Given the description of an element on the screen output the (x, y) to click on. 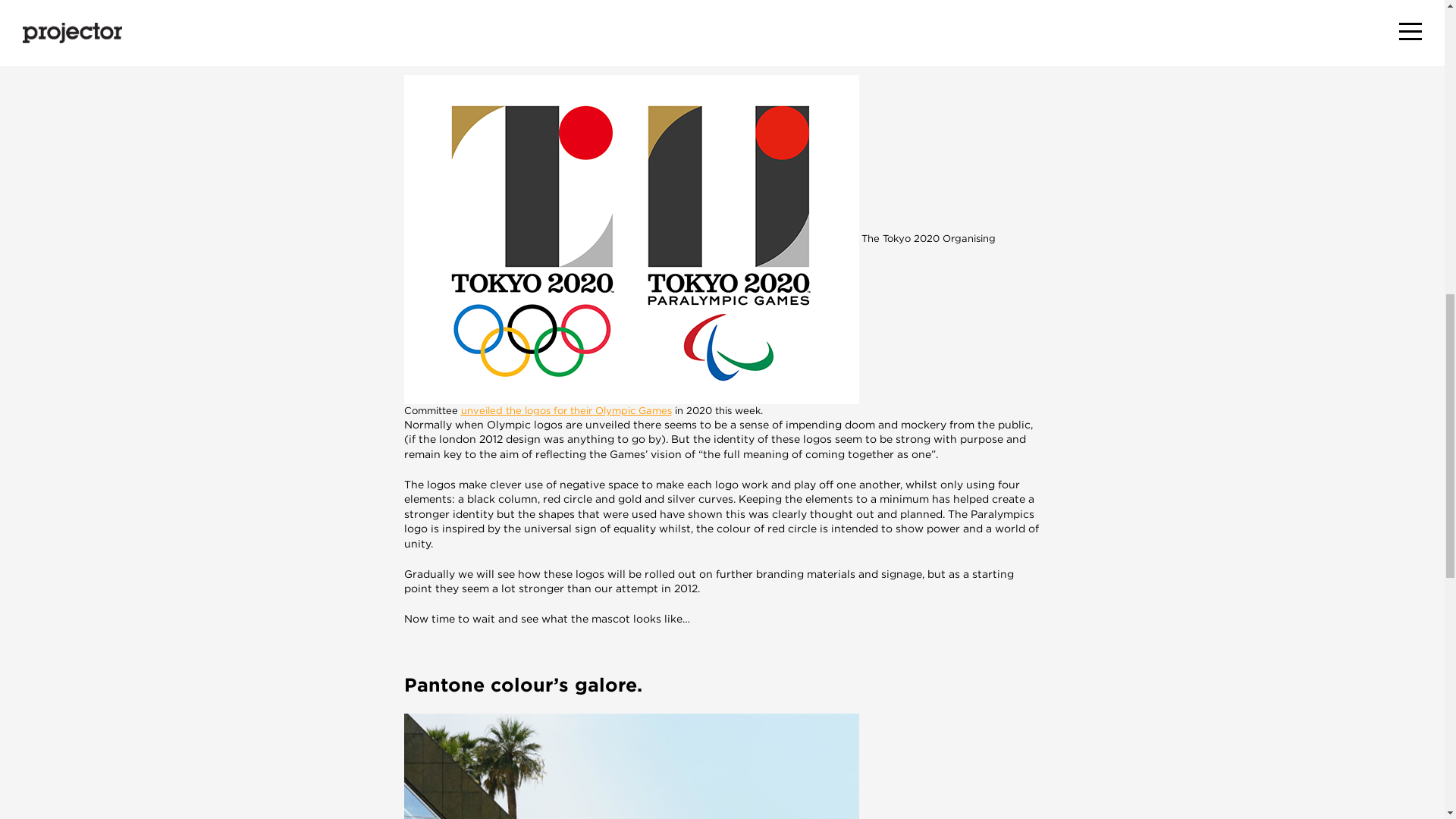
unveiled the logos for their Olympic Games (566, 410)
